Given the description of an element on the screen output the (x, y) to click on. 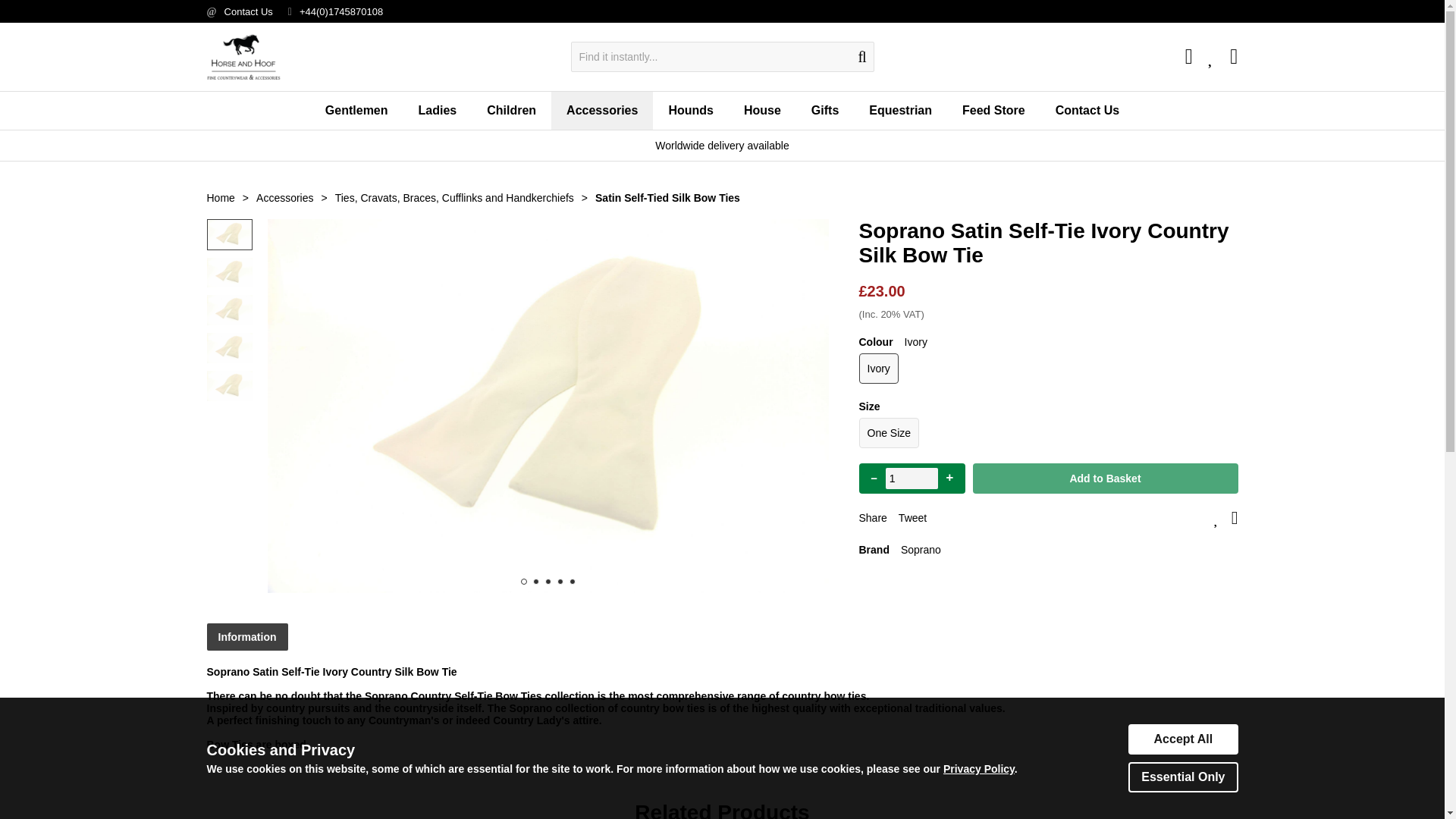
Contact Us (248, 11)
Children (511, 110)
Accessories (601, 110)
Ladies (437, 110)
Gentlemen (356, 110)
1 (912, 477)
